Given the description of an element on the screen output the (x, y) to click on. 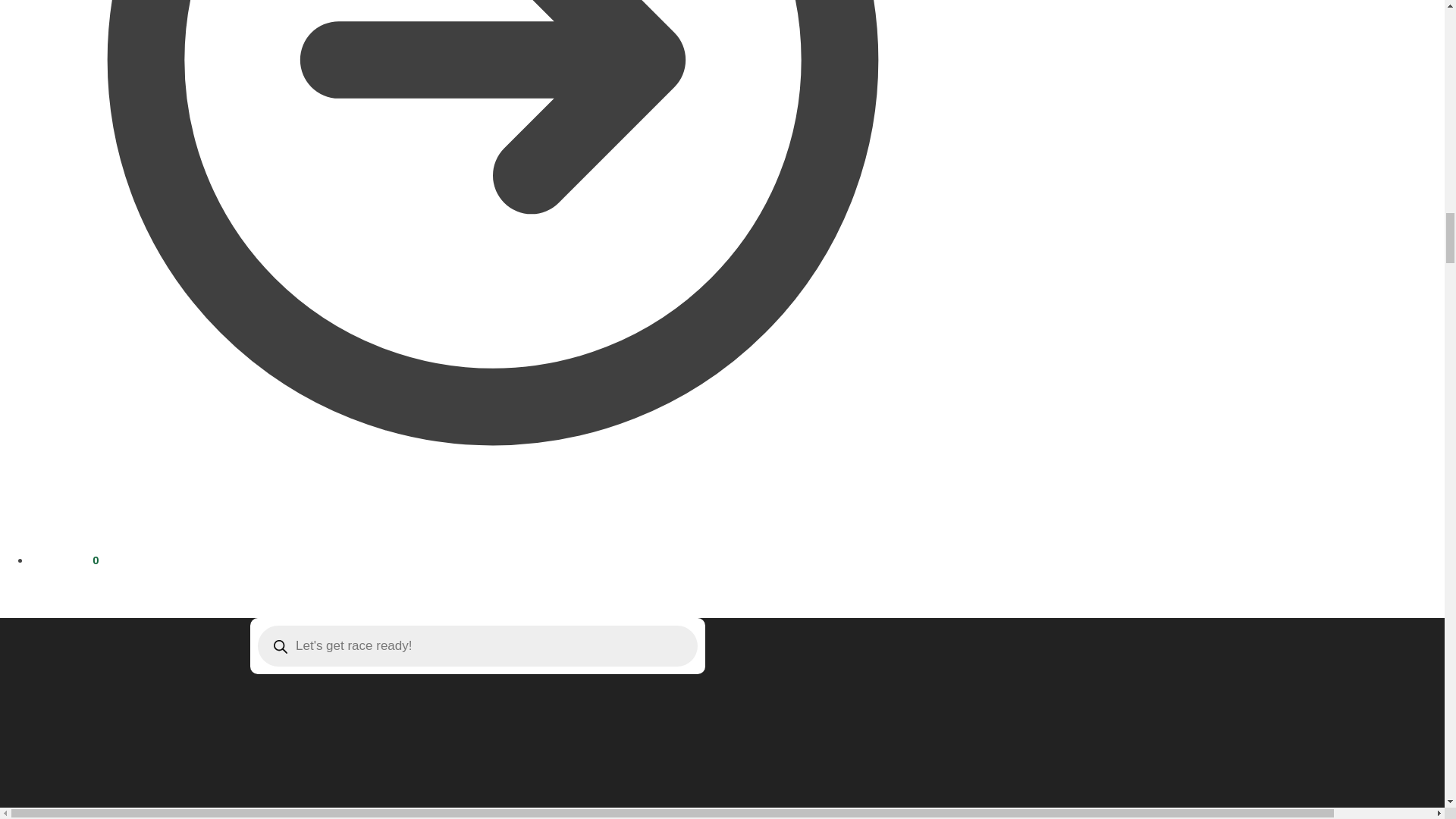
With tax added (45, 559)
View your shopping cart (64, 559)
With tax removed (74, 559)
